Given the description of an element on the screen output the (x, y) to click on. 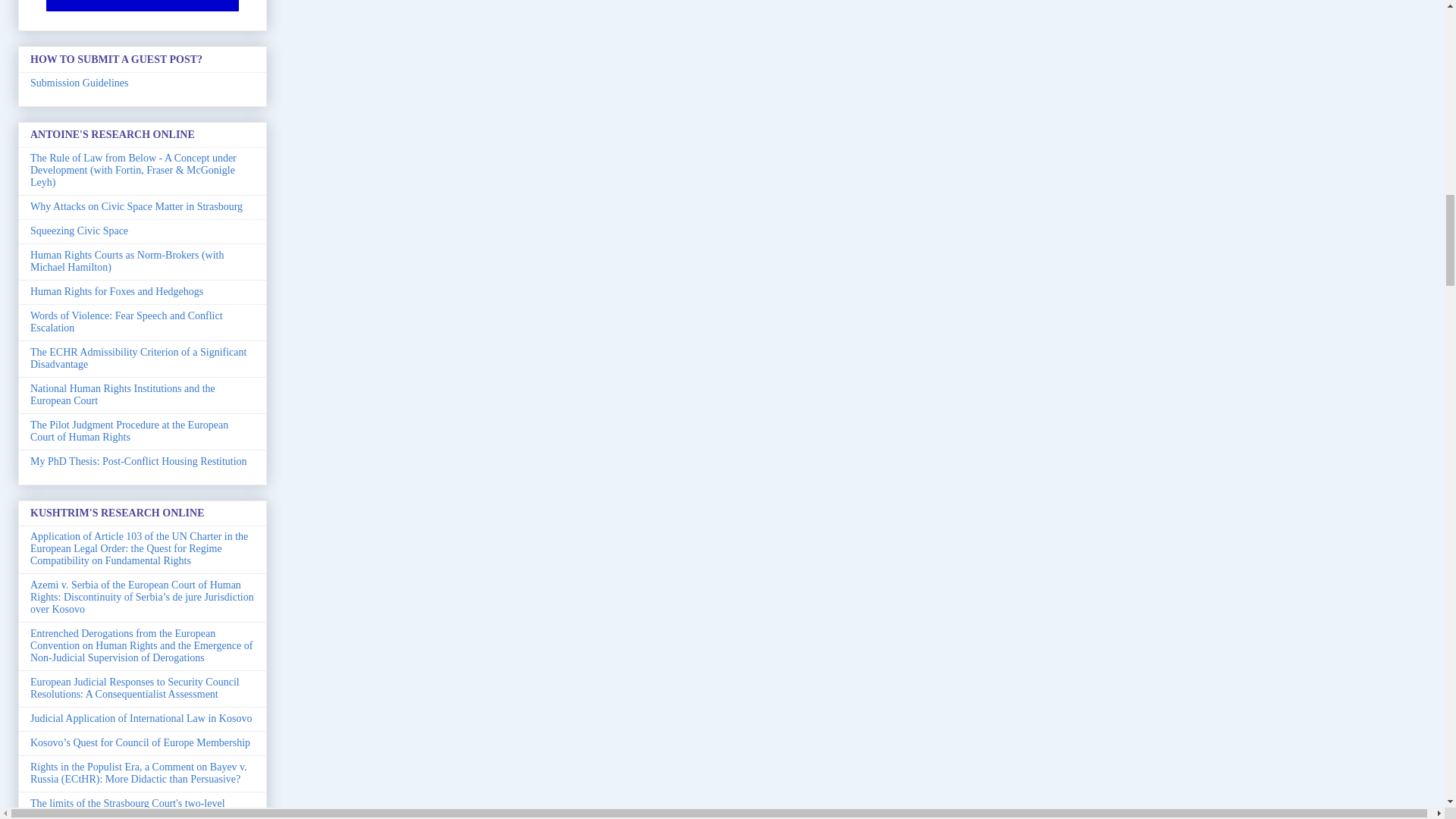
Why Attacks on Civic Space Matter in Strasbourg (136, 206)
Judicial Application of International Law in Kosovo (140, 717)
Submission Guidelines (79, 82)
My PhD Thesis: Post-Conflict Housing Restitution (138, 460)
Words of Violence: Fear Speech and Conflict Escalation (126, 321)
National Human Rights Institutions and the European Court (122, 394)
Subscribe (143, 5)
Human Rights for Foxes and Hedgehogs (116, 291)
Squeezing Civic Space (79, 230)
